Given the description of an element on the screen output the (x, y) to click on. 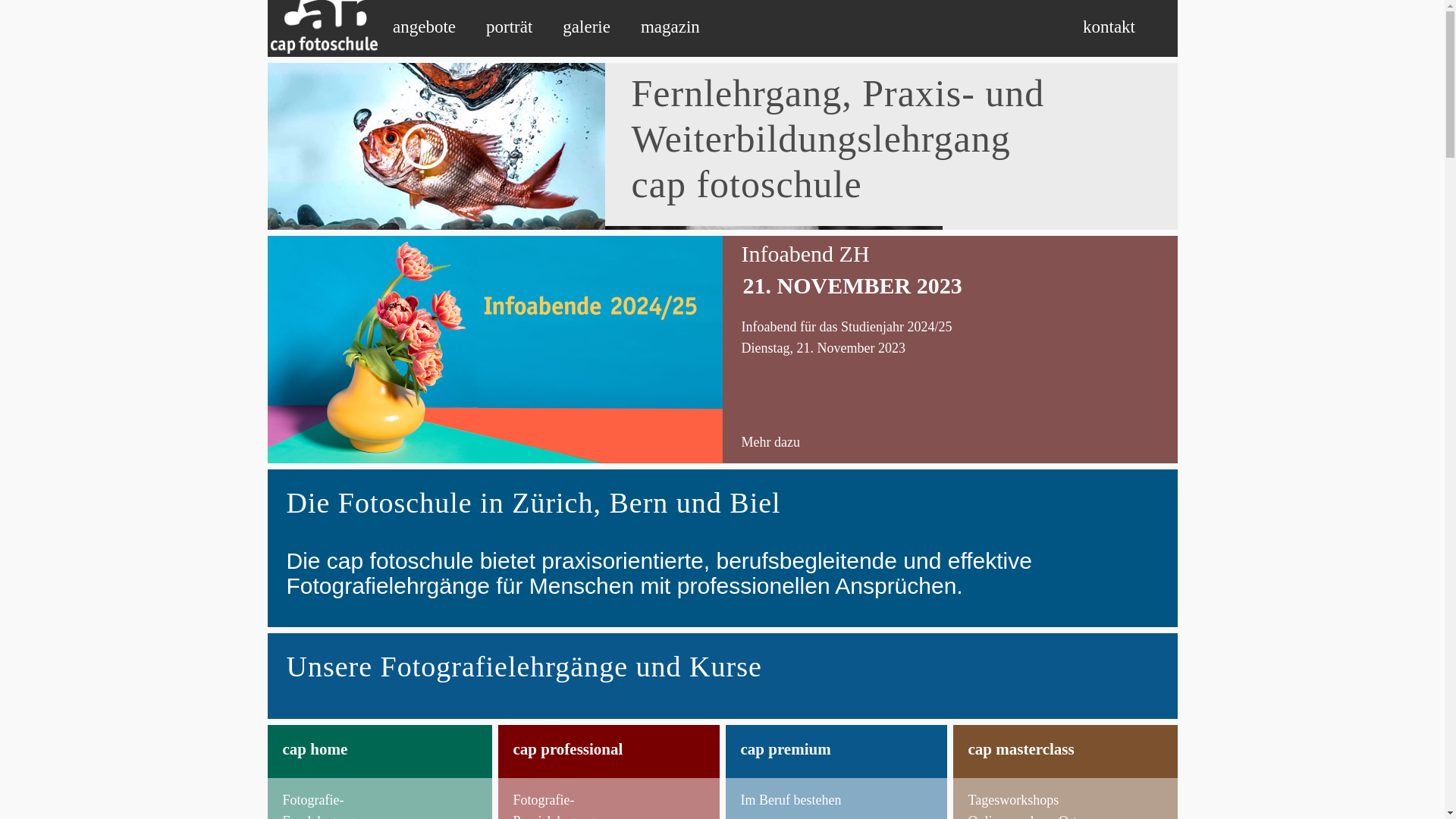
angebote Element type: text (423, 26)
galerie Element type: text (586, 26)
cap Fotoschule GmbH Element type: hover (321, 25)
kontakt Element type: text (1108, 26)
magazin Element type: text (670, 26)
Mehr dazu Element type: text (770, 441)
